Given the description of an element on the screen output the (x, y) to click on. 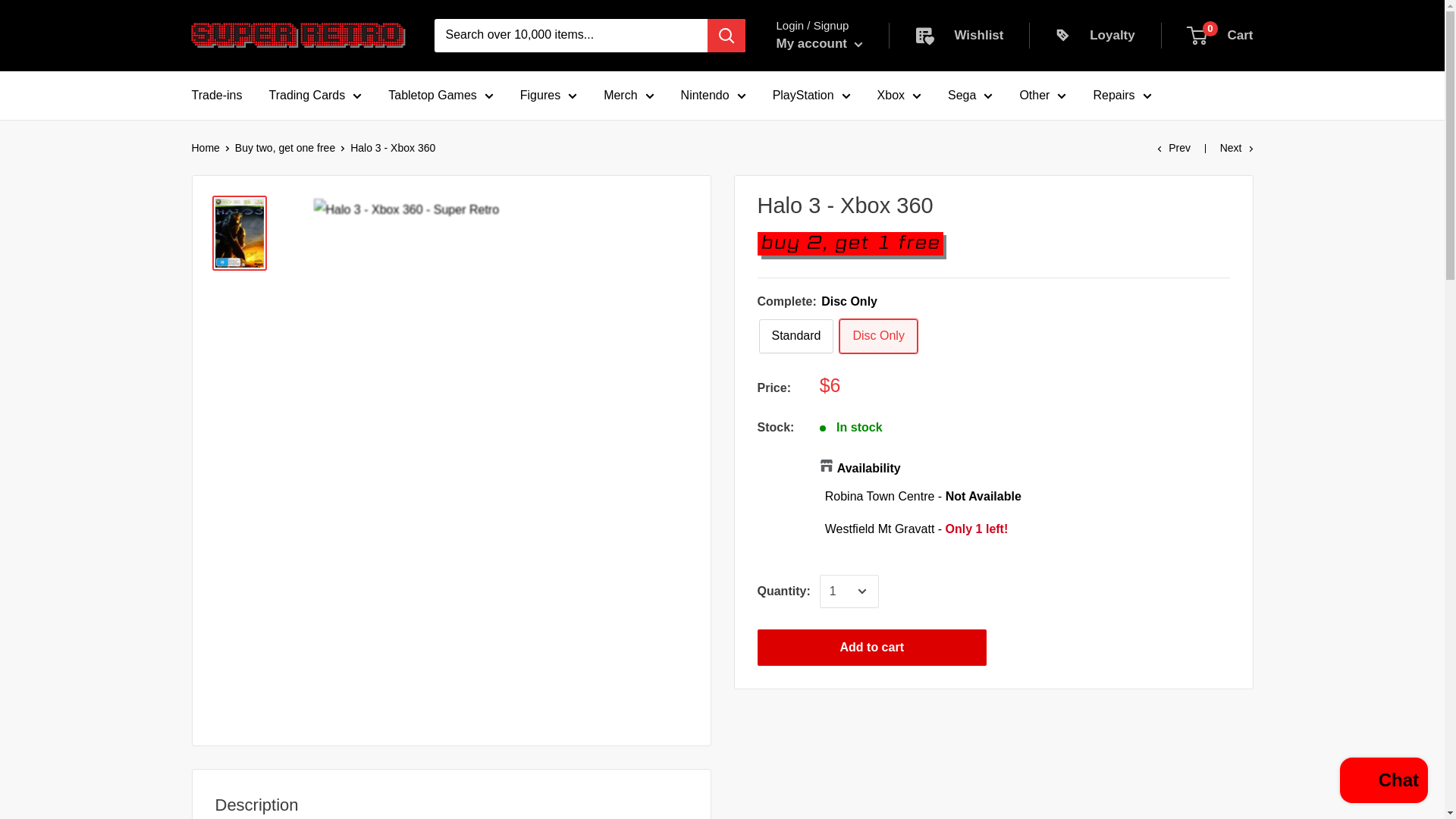
Disc Only (878, 335)
Shopify online store chat (1383, 781)
Standard (795, 335)
